Given the description of an element on the screen output the (x, y) to click on. 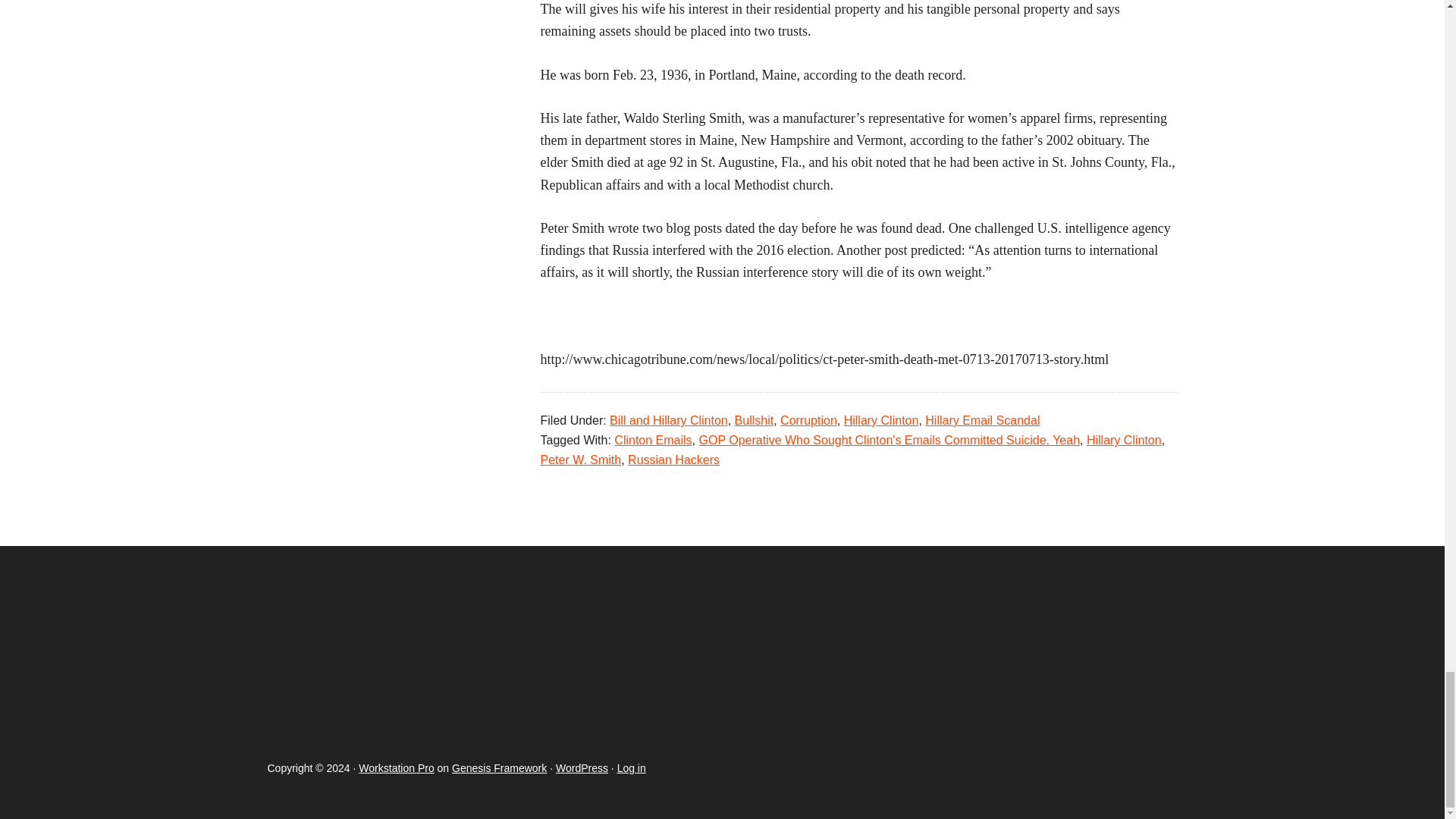
Hillary Clinton (881, 420)
Russian Hackers (673, 459)
Hillary Clinton (1123, 440)
Workstation Pro (395, 767)
Hillary Email Scandal (981, 420)
Peter W. Smith (580, 459)
Clinton Emails (652, 440)
Corruption (808, 420)
Genesis Framework (499, 767)
